Given the description of an element on the screen output the (x, y) to click on. 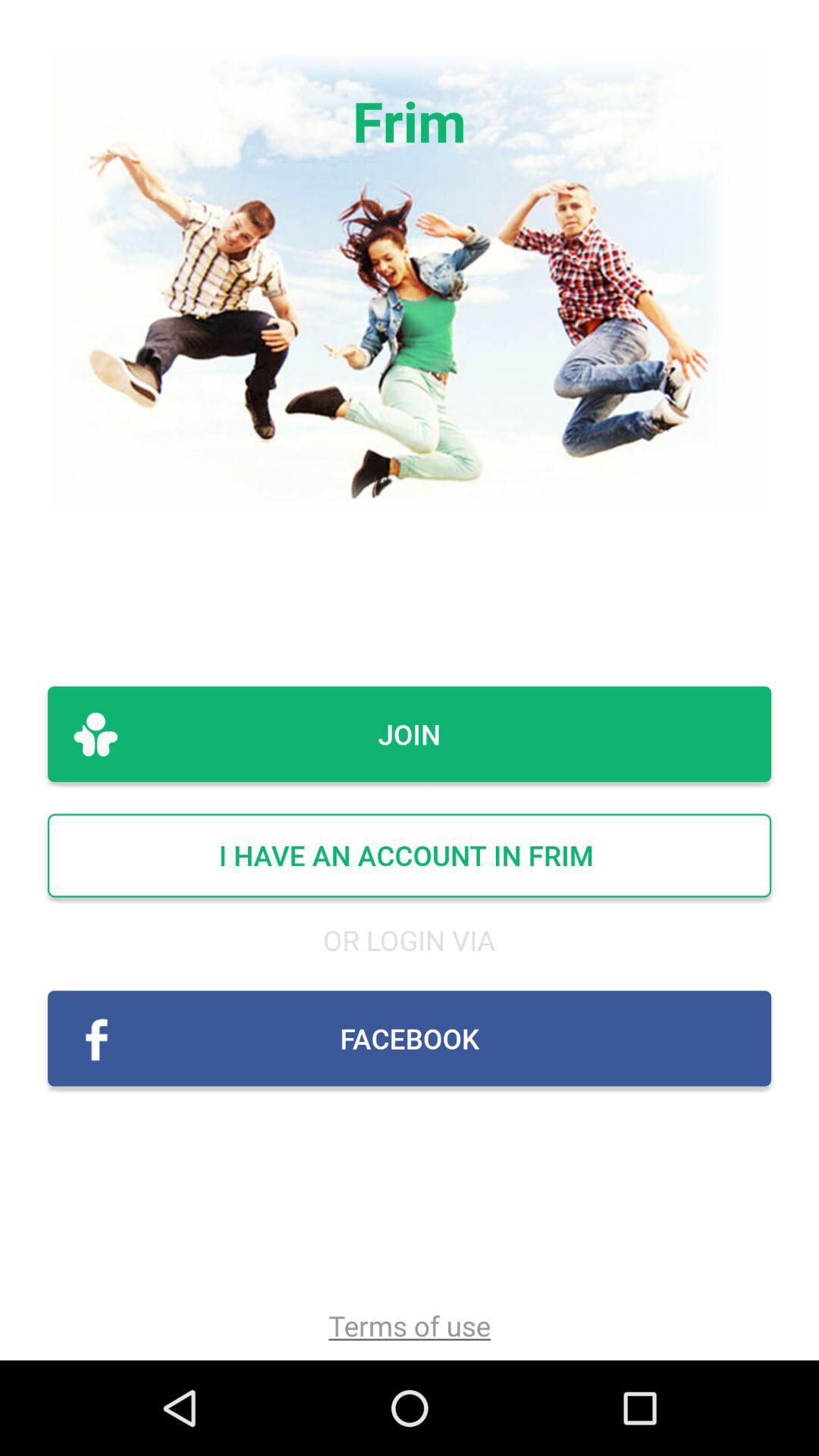
select the facebook icon (409, 1038)
